Given the description of an element on the screen output the (x, y) to click on. 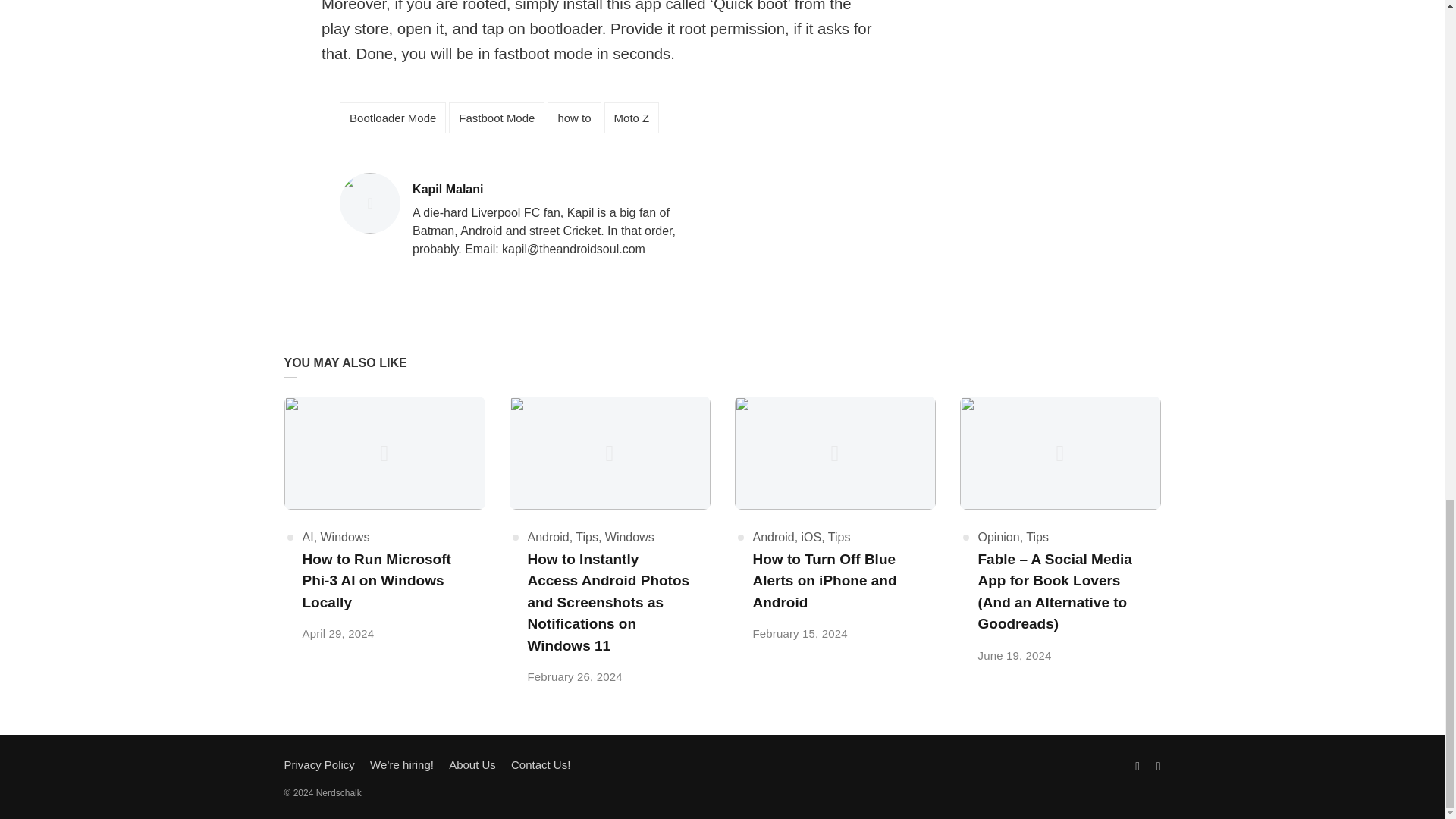
how to (573, 117)
Tips (839, 536)
Windows (564, 189)
Privacy Policy (629, 536)
Bootloader Mode (318, 764)
Tips (392, 117)
iOS (1037, 536)
Windows (812, 536)
Android (344, 536)
Opinion (772, 536)
Fastboot Mode (999, 536)
Tips (496, 117)
Android (586, 536)
Moto Z (548, 536)
